Given the description of an element on the screen output the (x, y) to click on. 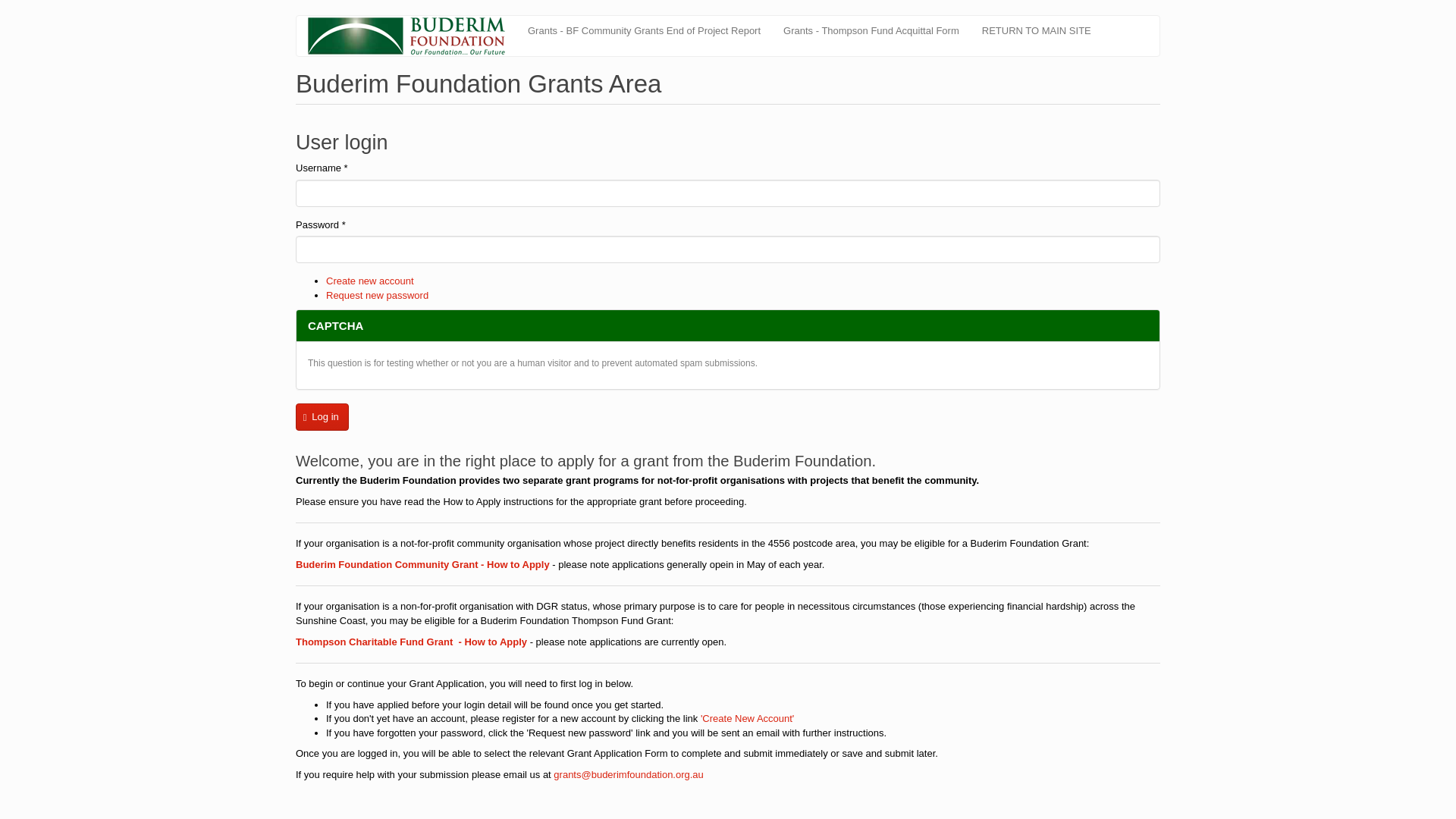
Grants - Thompson Fund Acquittal Form (871, 30)
Thompson Charitable Fund Grant  - How to Apply (411, 641)
Home (411, 35)
Buderim Foundation Community Grant - How to Apply (422, 564)
Request new password via e-mail. (377, 295)
Create a new user account. (369, 280)
Log in (322, 417)
Request new password (377, 295)
RETURN TO MAIN SITE (1036, 30)
Grants - BF Community Grants End of Project Report (643, 30)
Create new account (369, 280)
'Create New Account' (746, 717)
